Given the description of an element on the screen output the (x, y) to click on. 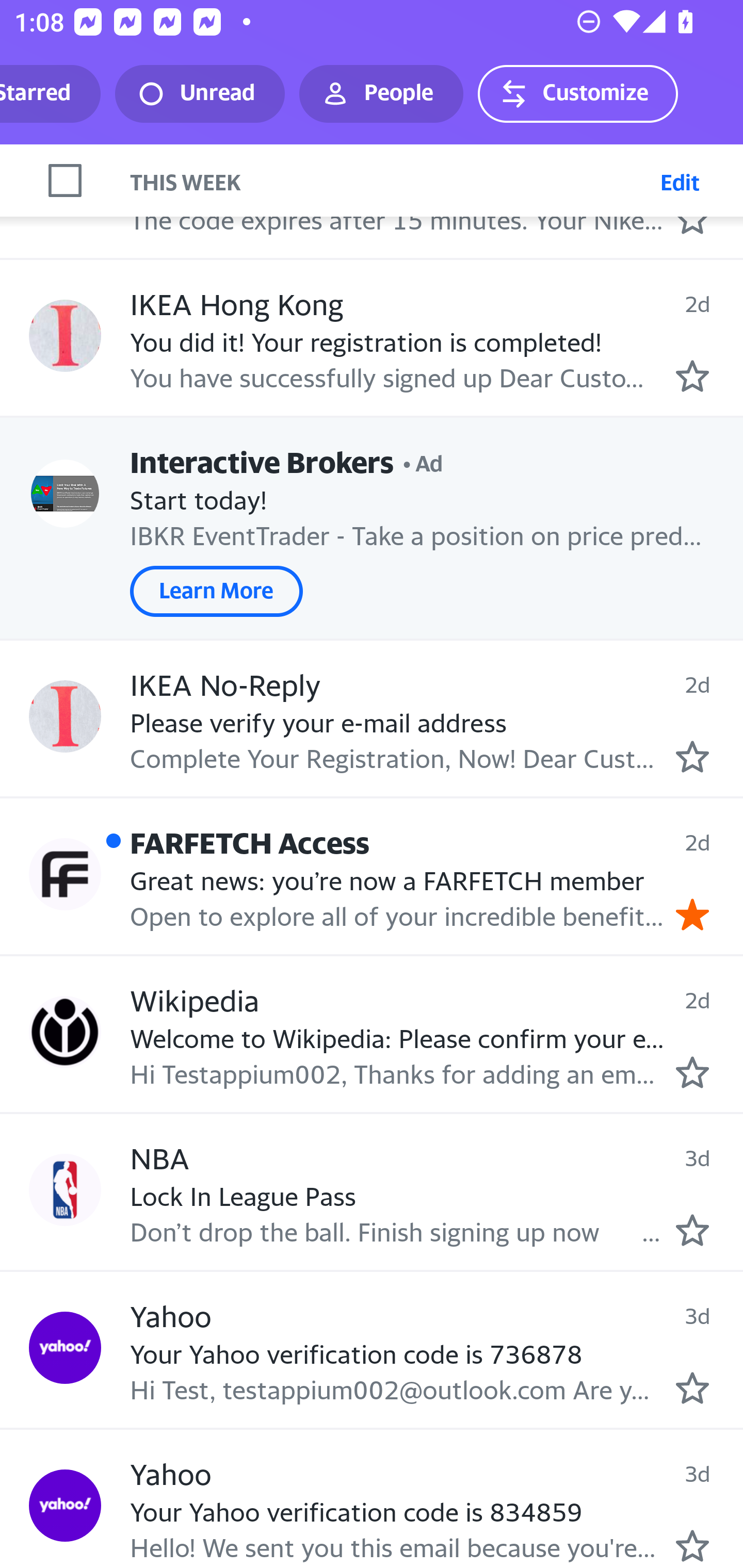
Unread (199, 93)
People (381, 93)
Customize (577, 93)
Profile
IKEA Hong Kong (64, 335)
Mark as starred. (692, 375)
Profile
IKEA No-Reply (64, 716)
Mark as starred. (692, 756)
Profile
FARFETCH Access (64, 874)
Remove star. (692, 914)
Profile
Wikipedia (64, 1031)
Mark as starred. (692, 1071)
Profile
NBA (64, 1190)
Mark as starred. (692, 1230)
Profile
Yahoo (64, 1348)
Mark as starred. (692, 1388)
Profile
Yahoo (64, 1505)
Mark as starred. (692, 1545)
